Given the description of an element on the screen output the (x, y) to click on. 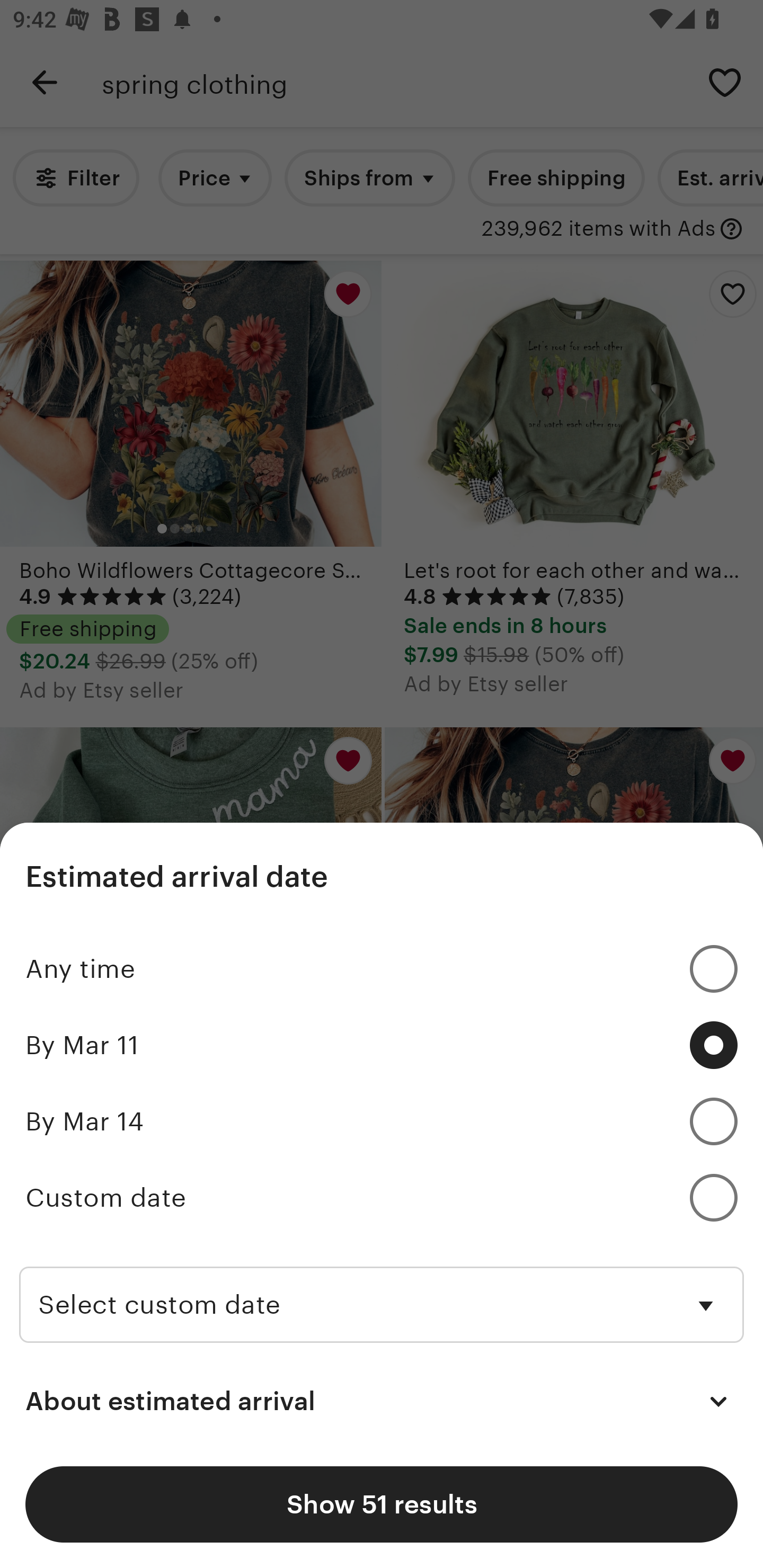
Any time (381, 968)
By Mar 14 (381, 1121)
Custom date (381, 1197)
Select custom date (381, 1288)
About estimated arrival (381, 1401)
Show 51 results (381, 1504)
